Given the description of an element on the screen output the (x, y) to click on. 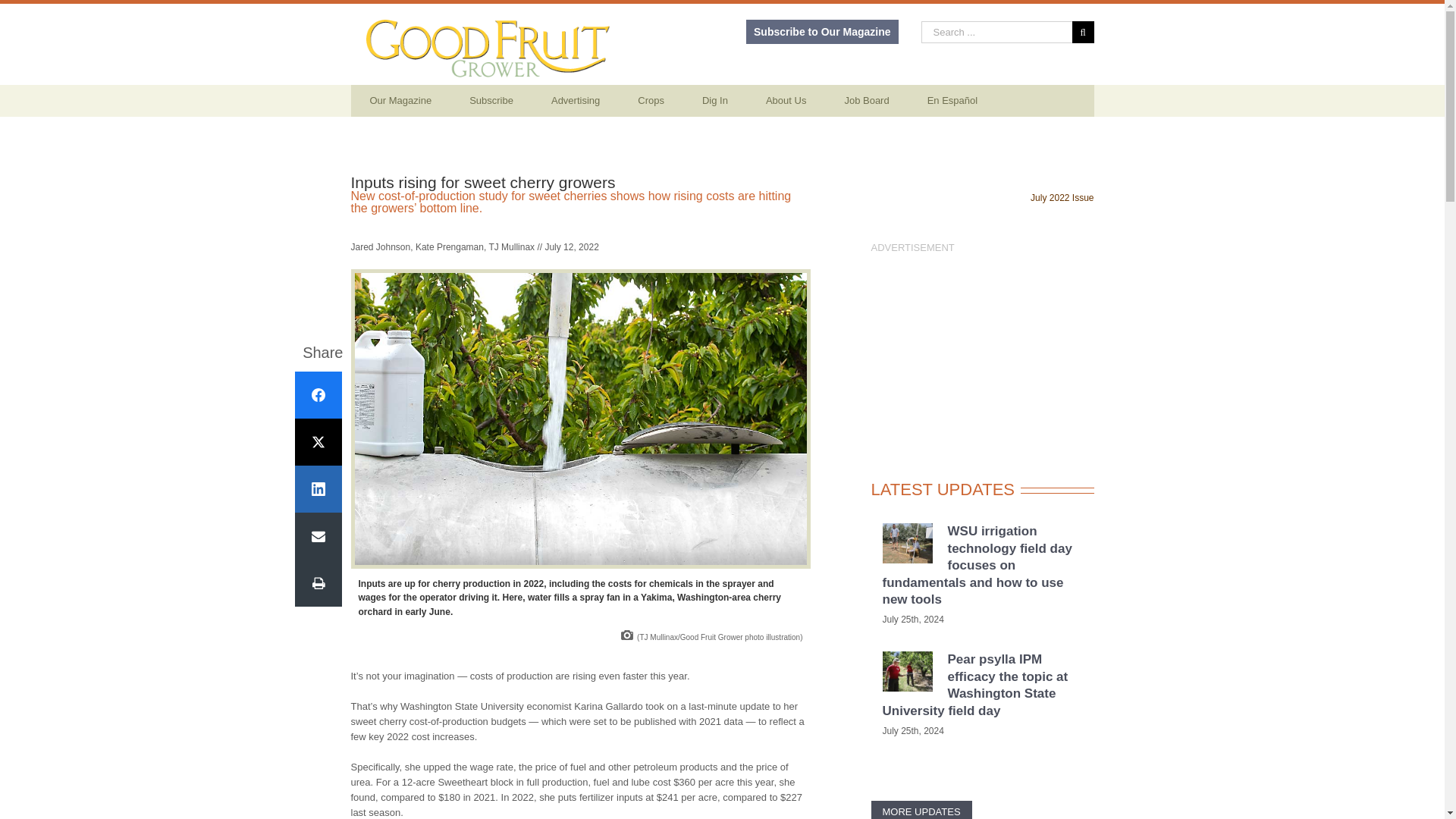
About Us (785, 101)
Our Magazine (400, 101)
Subscribe (490, 101)
Subscribe to Our Magazine (821, 31)
Advertising (575, 101)
3rd party ad content (981, 350)
